Given the description of an element on the screen output the (x, y) to click on. 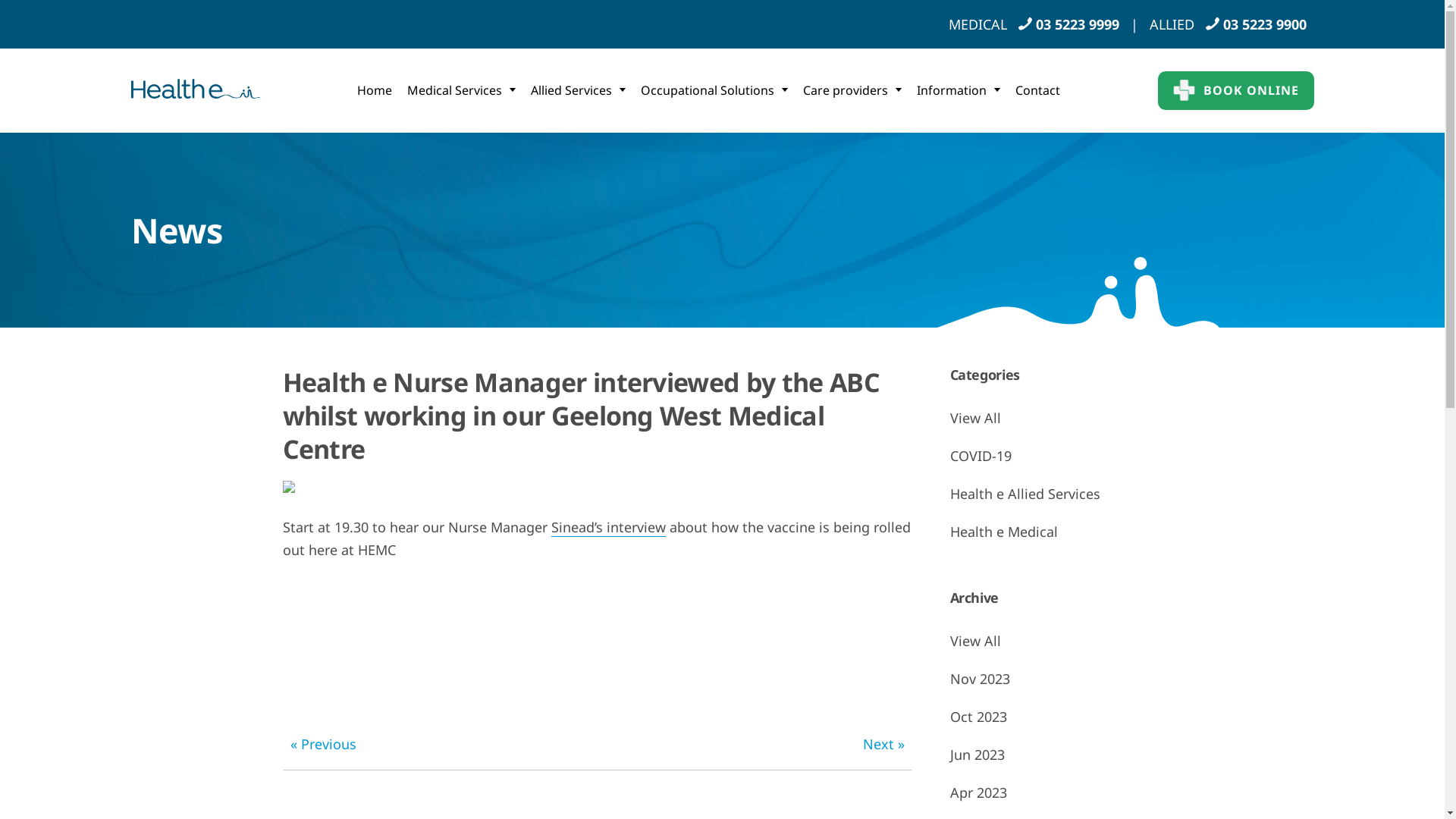
Occupational Solutions Element type: text (714, 89)
Allied Services Element type: text (578, 89)
Health e Allied Services Element type: text (1055, 493)
View All Element type: text (1055, 640)
Information Element type: text (958, 89)
Medical Services Element type: text (461, 89)
Contact Element type: text (1037, 89)
Jun 2023 Element type: text (1055, 754)
Oct 2023 Element type: text (1055, 716)
COVID-19 Element type: text (1055, 455)
Health e Medical Element type: text (1055, 531)
Apr 2023 Element type: text (1055, 792)
Care providers Element type: text (852, 89)
Home Element type: text (374, 89)
View All Element type: text (1055, 417)
BOOK ONLINE Element type: text (1235, 90)
Nov 2023 Element type: text (1055, 678)
